Given the description of an element on the screen output the (x, y) to click on. 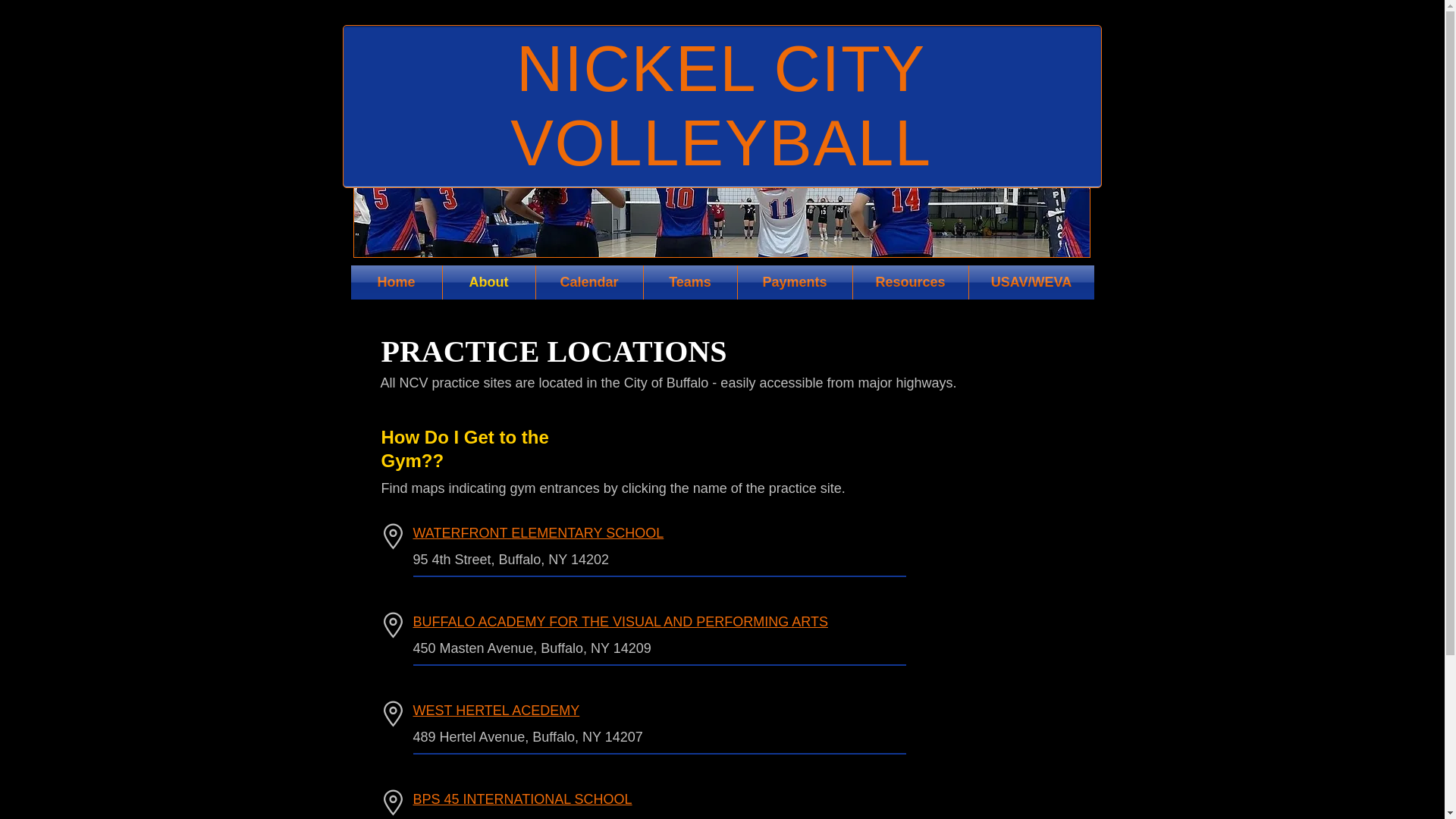
Calendar (588, 282)
BUFFALO ACADEMY FOR THE VISUAL AND PERFORMING ARTS (619, 621)
About (488, 282)
WATERFRONT ELEMENTARY SCHOOL (537, 532)
Teams (689, 282)
Payments (793, 282)
Home (395, 282)
WEST HERTEL ACEDEMY (495, 710)
